Given the description of an element on the screen output the (x, y) to click on. 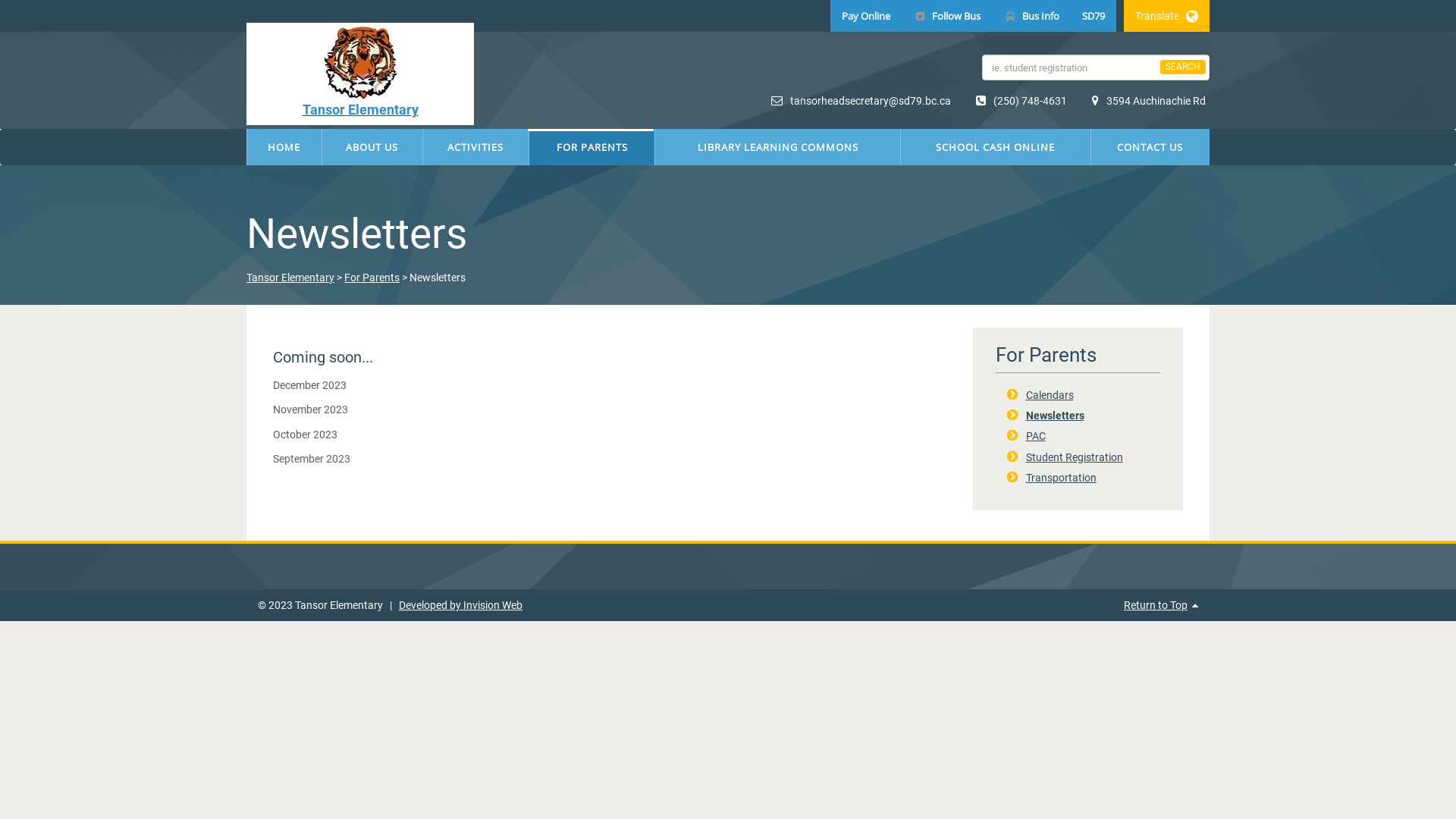
PAC Element type: text (1034, 435)
Follow Bus Element type: text (946, 15)
ABOUT US Element type: text (372, 146)
SCHOOL CASH ONLINE Element type: text (995, 146)
SEARCH Element type: text (1182, 66)
Bus Info Element type: text (1030, 15)
SD79 Element type: text (1093, 15)
CONTACT US Element type: text (1150, 146)
HOME Element type: text (284, 146)
Developed by Invision Web Element type: text (460, 605)
Translate   Element type: text (1166, 15)
LIBRARY LEARNING COMMONS Element type: text (777, 146)
FOR PARENTS Element type: text (592, 146)
Student Registration Element type: text (1073, 457)
ACTIVITIES Element type: text (475, 146)
Return to Top Element type: text (1155, 605)
For Parents Element type: text (371, 277)
Tansor Elementary Element type: text (290, 277)
Transportation Element type: text (1060, 477)
Newsletters Element type: text (1054, 415)
Pay Online Element type: text (865, 15)
Calendars Element type: text (1049, 395)
Tansor Elementary Element type: text (359, 73)
